Given the description of an element on the screen output the (x, y) to click on. 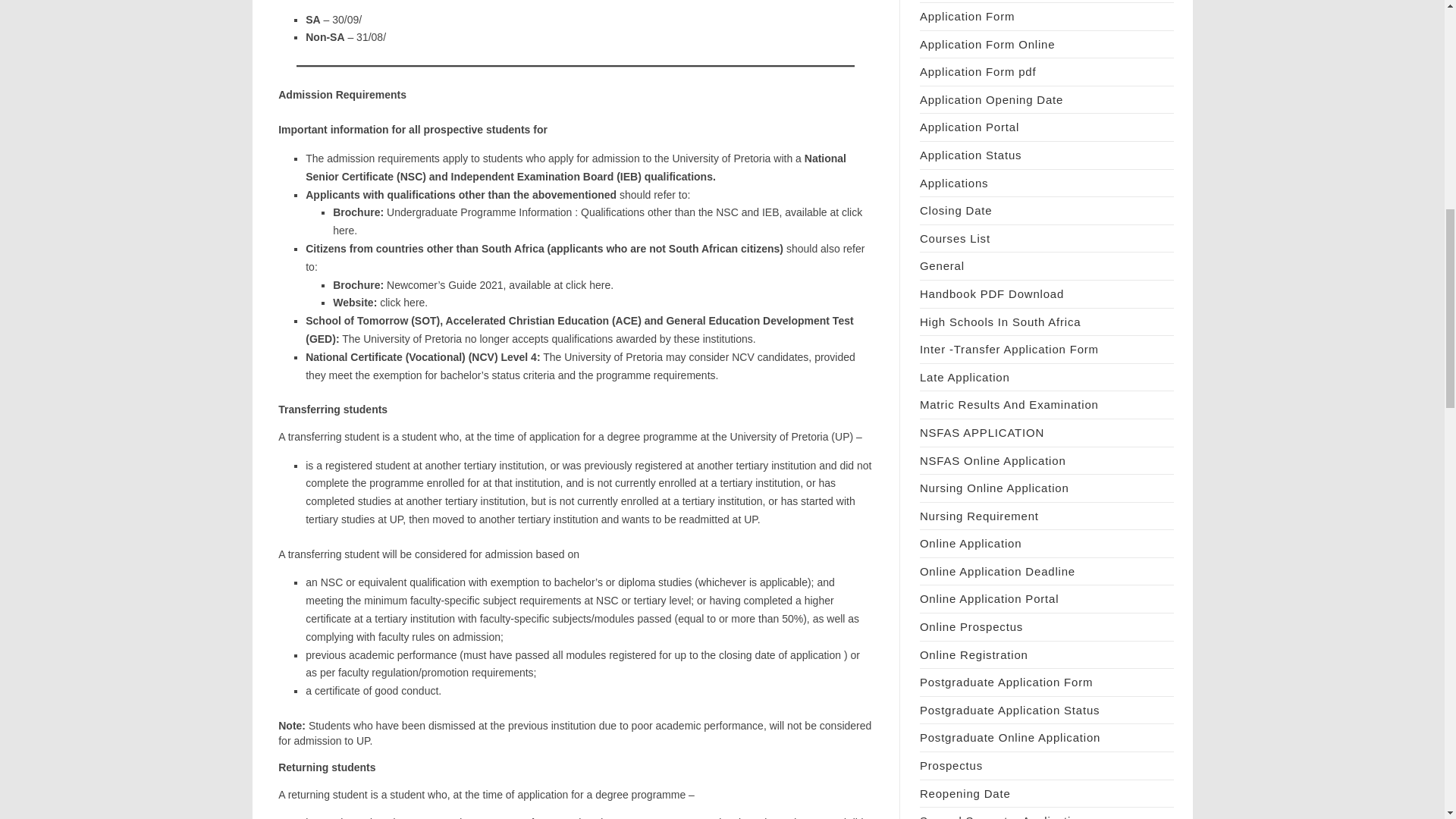
High Schools In South Africa (1000, 321)
Application Form (967, 15)
Application Form Online (987, 43)
Application Portal (969, 126)
Courses List (955, 237)
General (941, 265)
Closing Date (955, 210)
Application Opening Date (991, 99)
Application Status (971, 154)
Inter -Transfer Application Form (1009, 349)
Application Form pdf (978, 71)
Handbook PDF Download (992, 293)
Applications (954, 182)
